Given the description of an element on the screen output the (x, y) to click on. 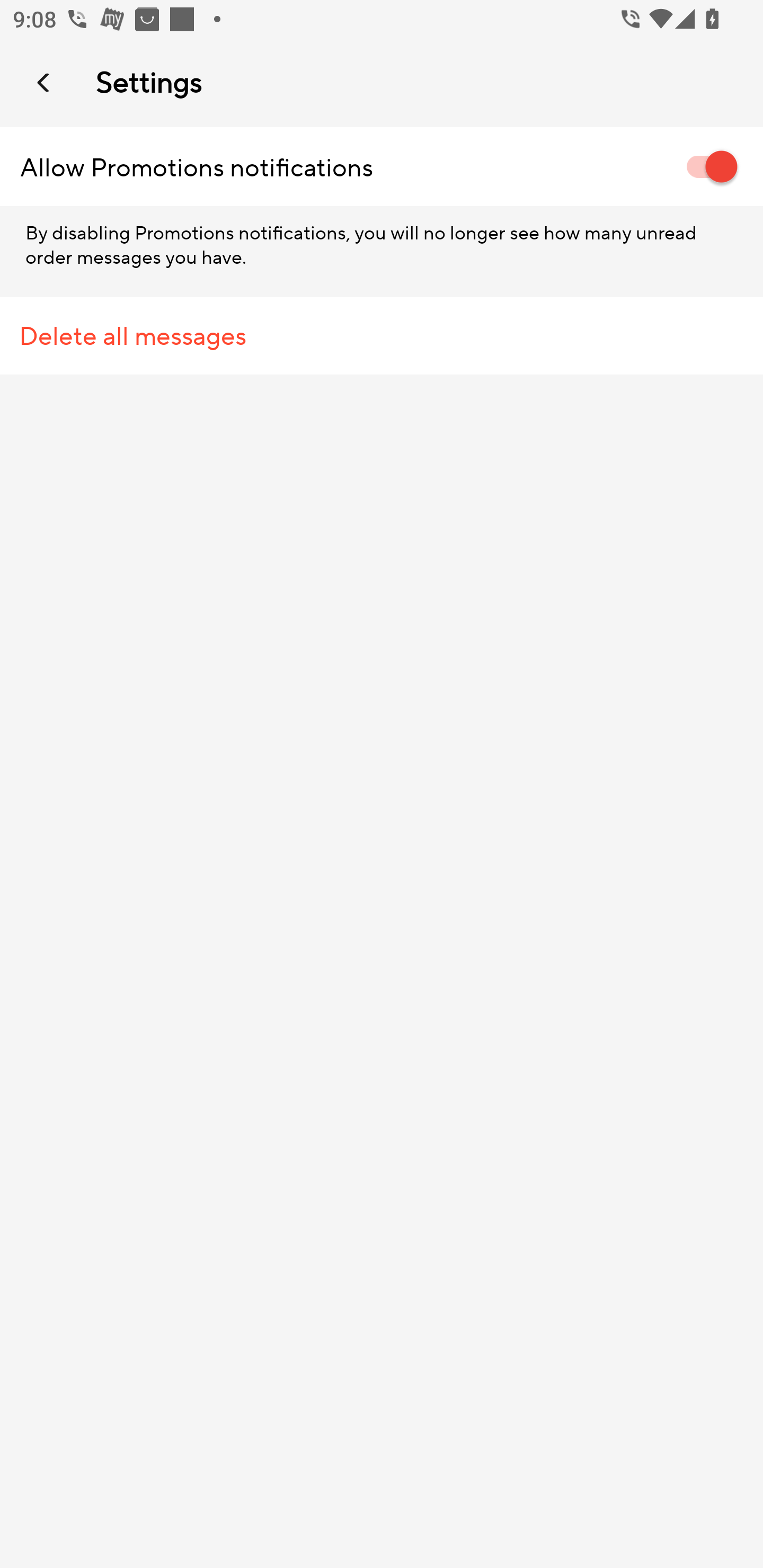
Navigate up (44, 82)
Delete all messages (381, 335)
